Given the description of an element on the screen output the (x, y) to click on. 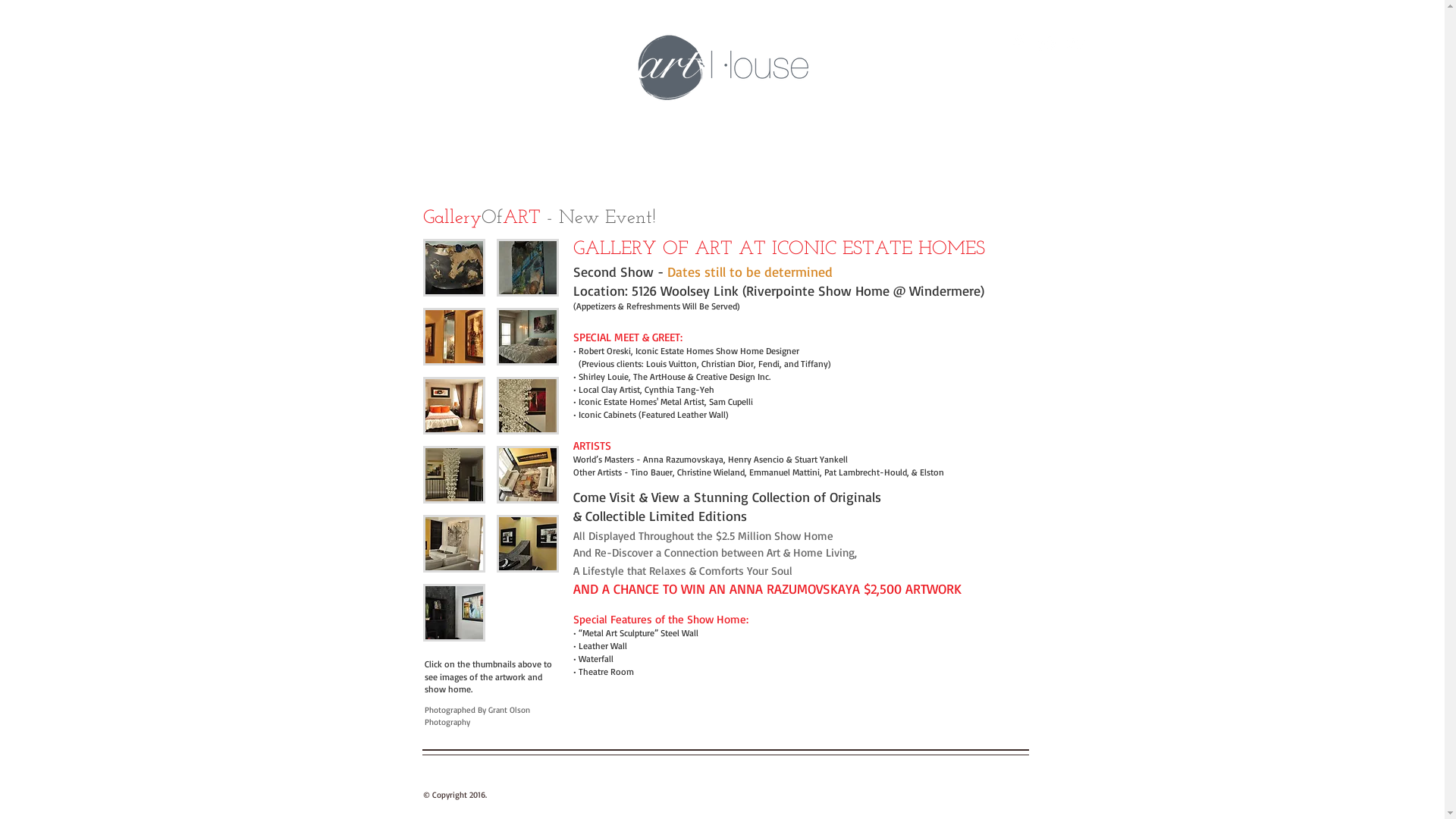
ArtHouse_logo_2016_col_simple.png Element type: hover (722, 67)
